Given the description of an element on the screen output the (x, y) to click on. 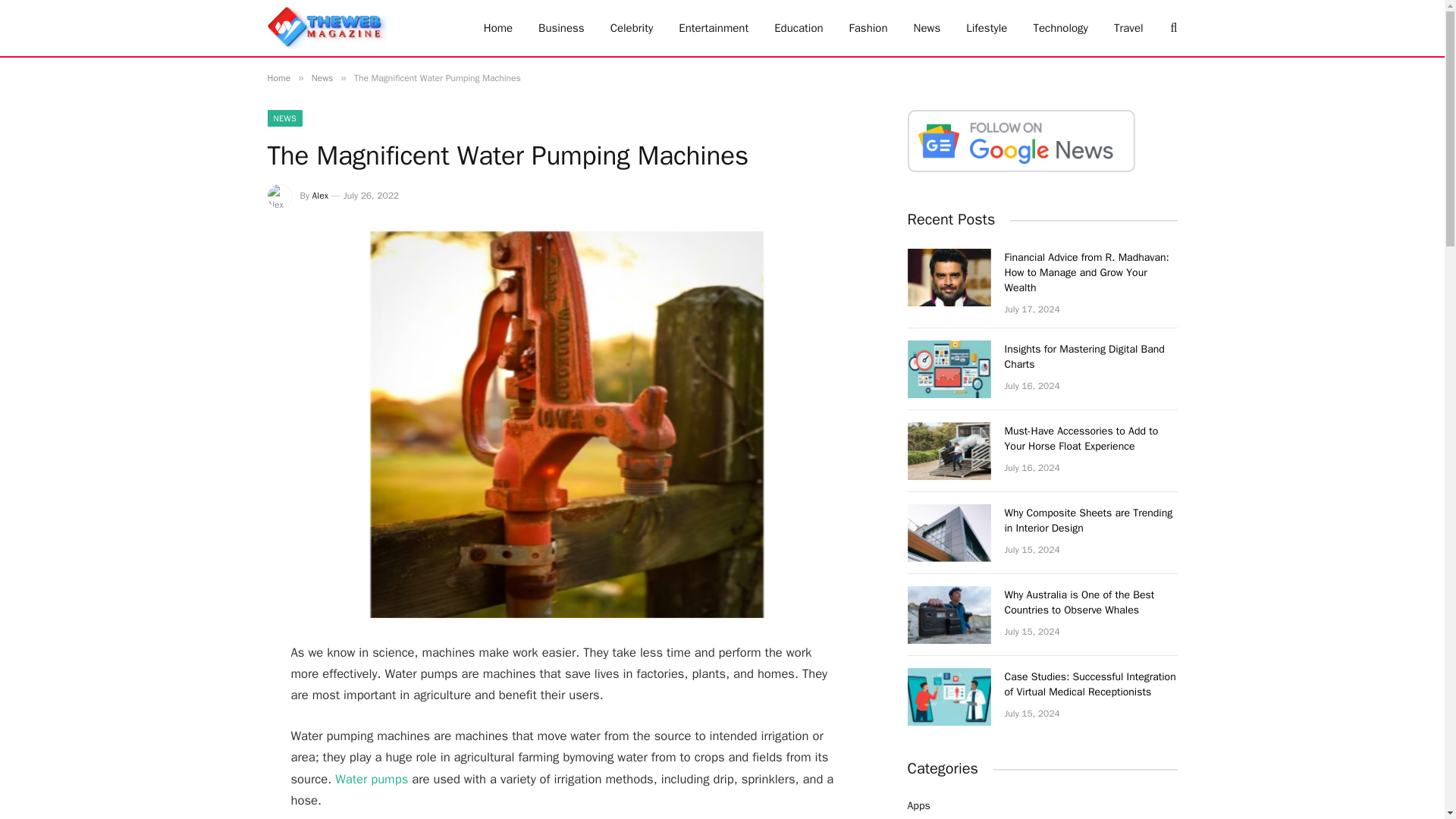
Business (560, 28)
Alex (321, 195)
Entertainment (713, 28)
Water pumps (370, 778)
Home (497, 28)
NEWS (284, 117)
Lifestyle (986, 28)
Education (798, 28)
Posts by Alex (321, 195)
Celebrity (631, 28)
News (927, 28)
Fashion (868, 28)
Home (277, 78)
